Given the description of an element on the screen output the (x, y) to click on. 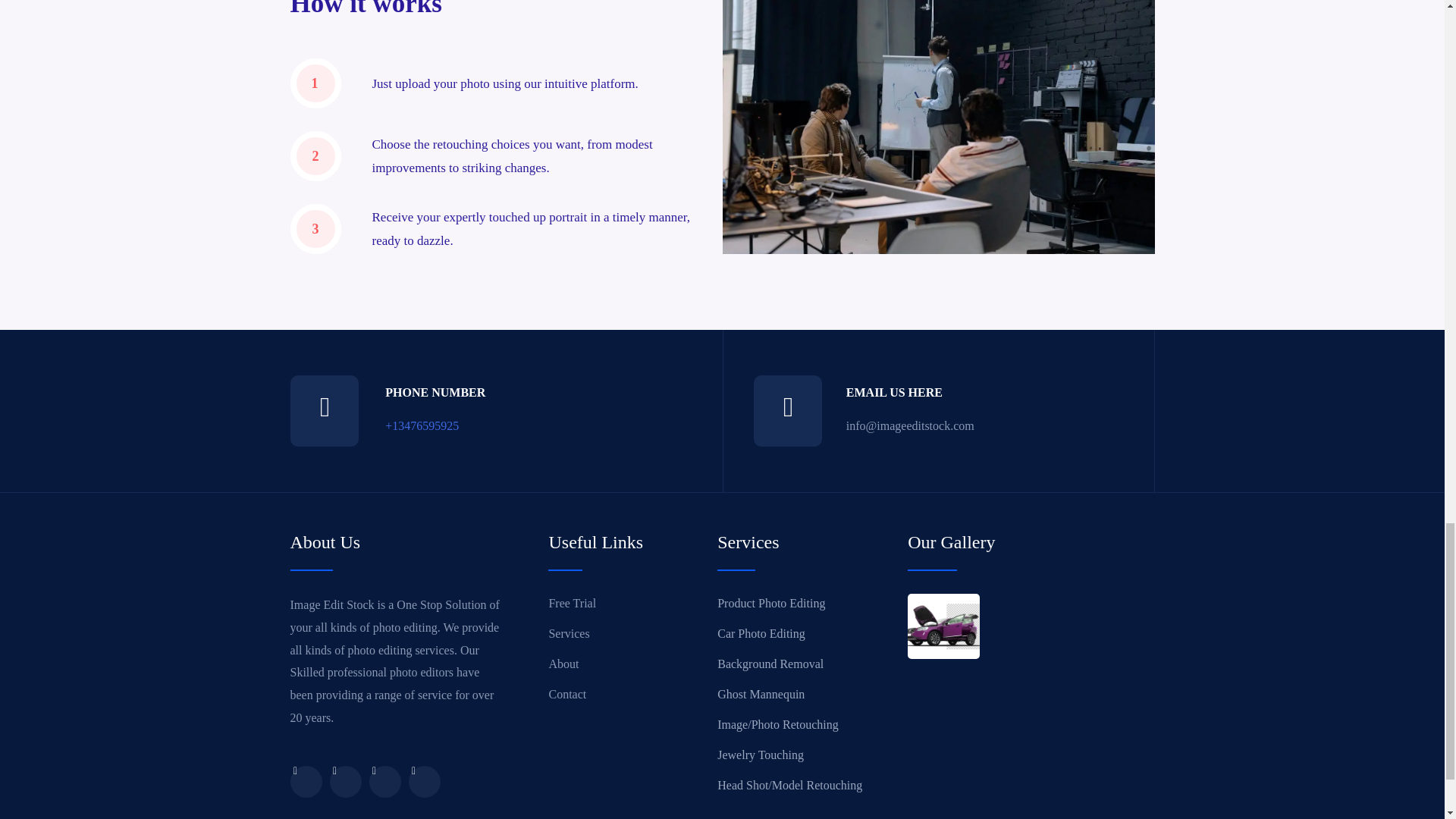
Background Removal (812, 664)
2 (314, 155)
Services (632, 633)
Free Trial (632, 603)
1 (314, 83)
Jewelry Touching (812, 754)
Youtube (384, 781)
Youtube (423, 781)
Ghost Mannequin (812, 694)
Twitter (345, 781)
